Given the description of an element on the screen output the (x, y) to click on. 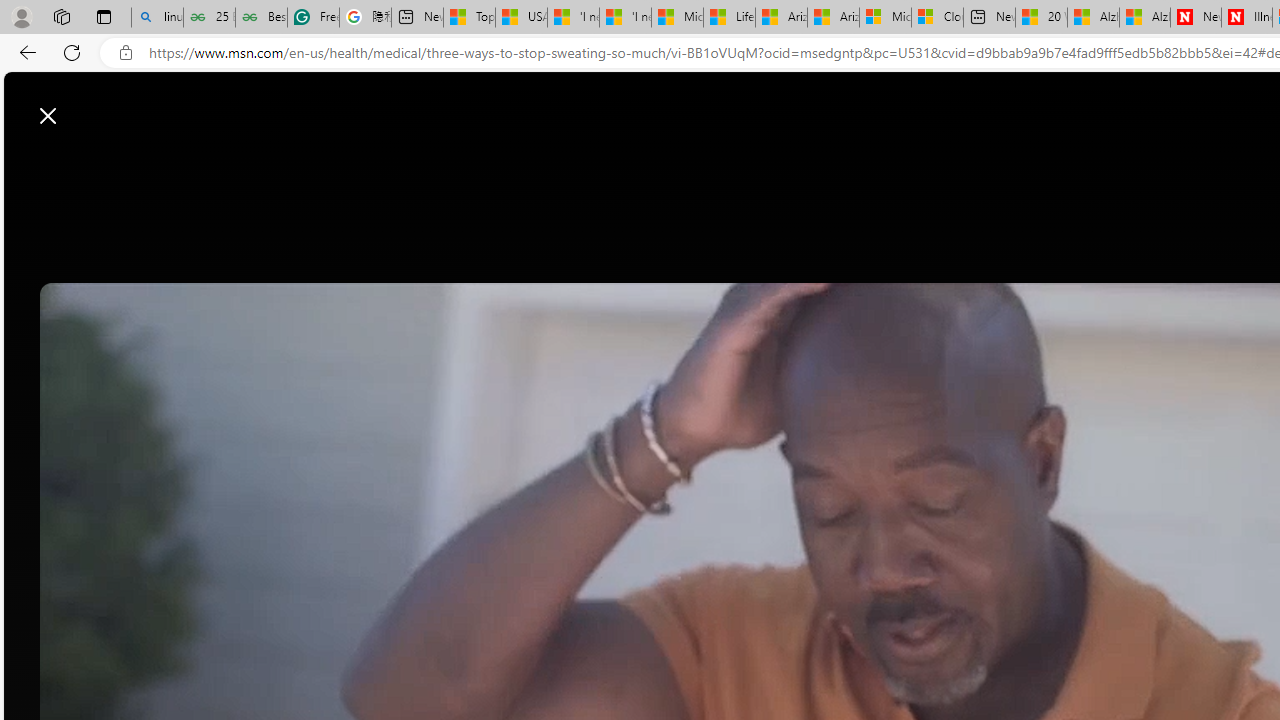
Discover (383, 162)
20 Ways to Boost Your Protein Intake at Every Meal (1041, 17)
Class: button-glyph (320, 162)
Free AI Writing Assistance for Students | Grammarly (313, 17)
Class: control icon-only (47, 115)
